Given the description of an element on the screen output the (x, y) to click on. 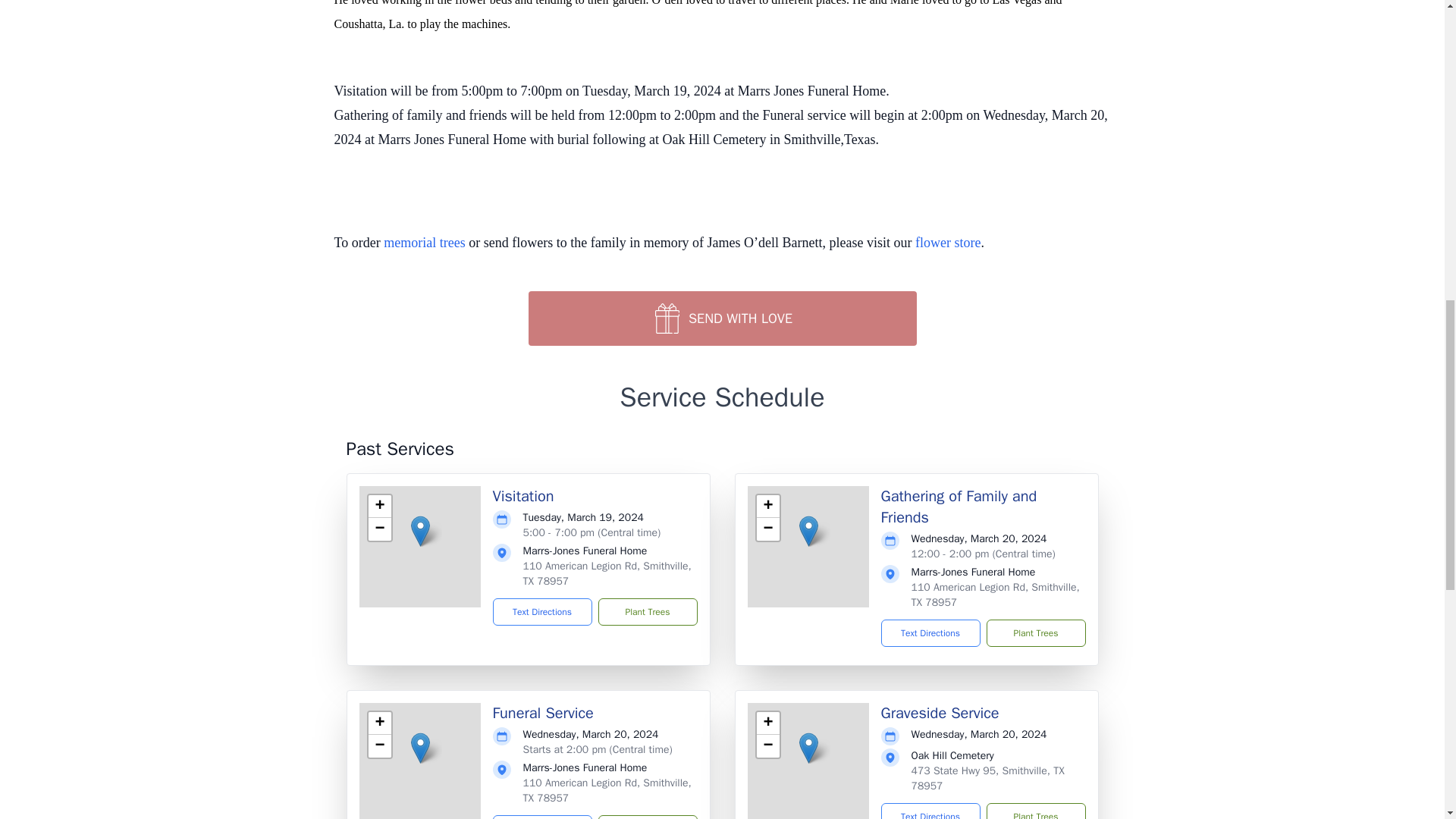
Zoom out (379, 528)
Zoom in (767, 722)
Text Directions (542, 611)
Zoom in (379, 506)
Text Directions (929, 633)
110 American Legion Rd, Smithville, TX 78957 (606, 573)
Plant Trees (646, 611)
Zoom in (379, 722)
Plant Trees (1034, 633)
Zoom out (379, 745)
SEND WITH LOVE (721, 318)
110 American Legion Rd, Smithville, TX 78957 (995, 594)
memorial trees (424, 242)
Zoom out (767, 745)
Zoom out (767, 528)
